Given the description of an element on the screen output the (x, y) to click on. 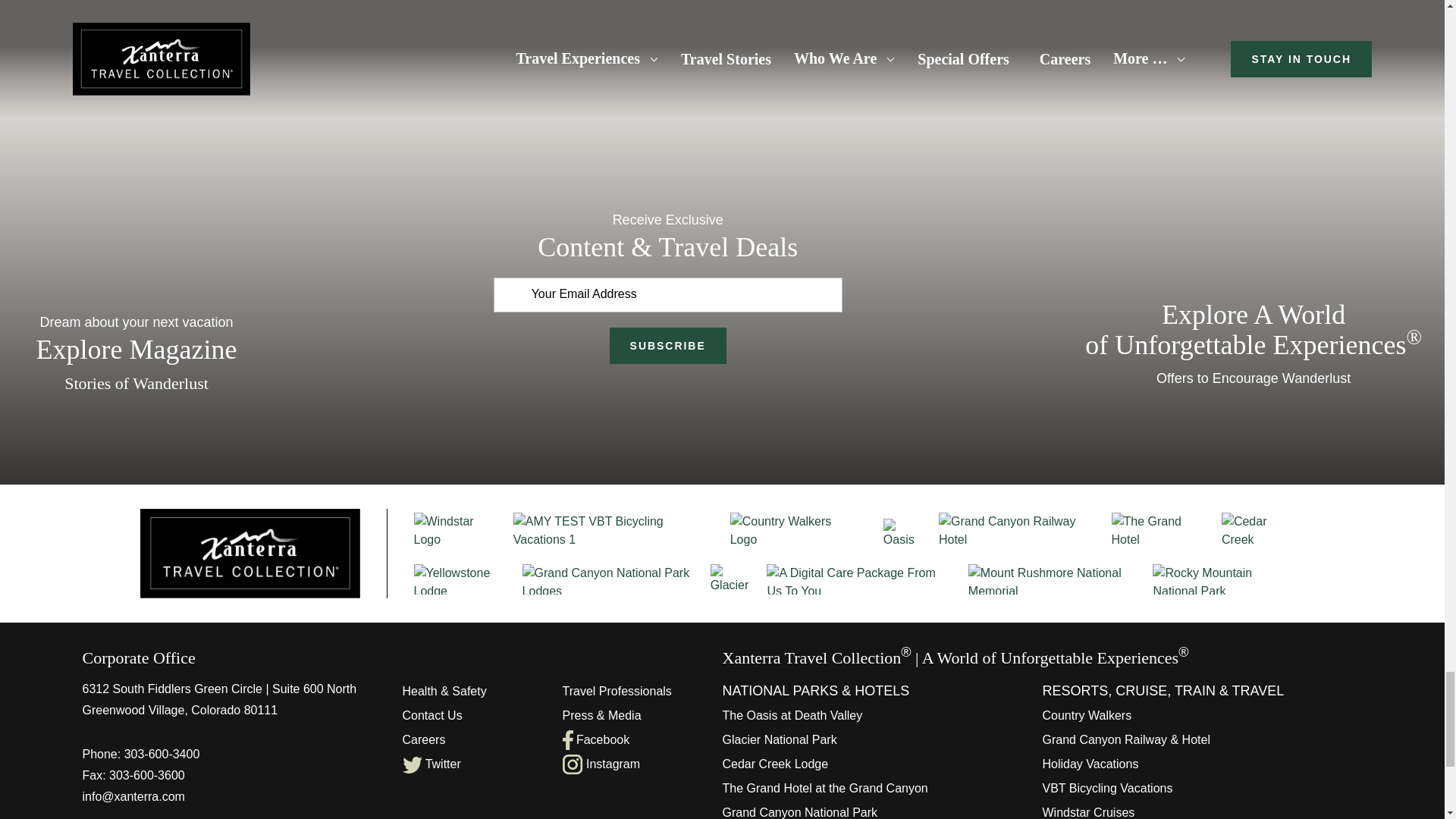
Learn More About Explore Magazine (136, 285)
Subscribe (668, 345)
Oasis (903, 533)
AMY TEST VBT Bicycling Vacations 1 (613, 530)
Grand Canyon Railway Hotel (1017, 530)
Current Offers (1253, 285)
Country Walkers Logo (791, 530)
Windstar Logo (455, 530)
